Given the description of an element on the screen output the (x, y) to click on. 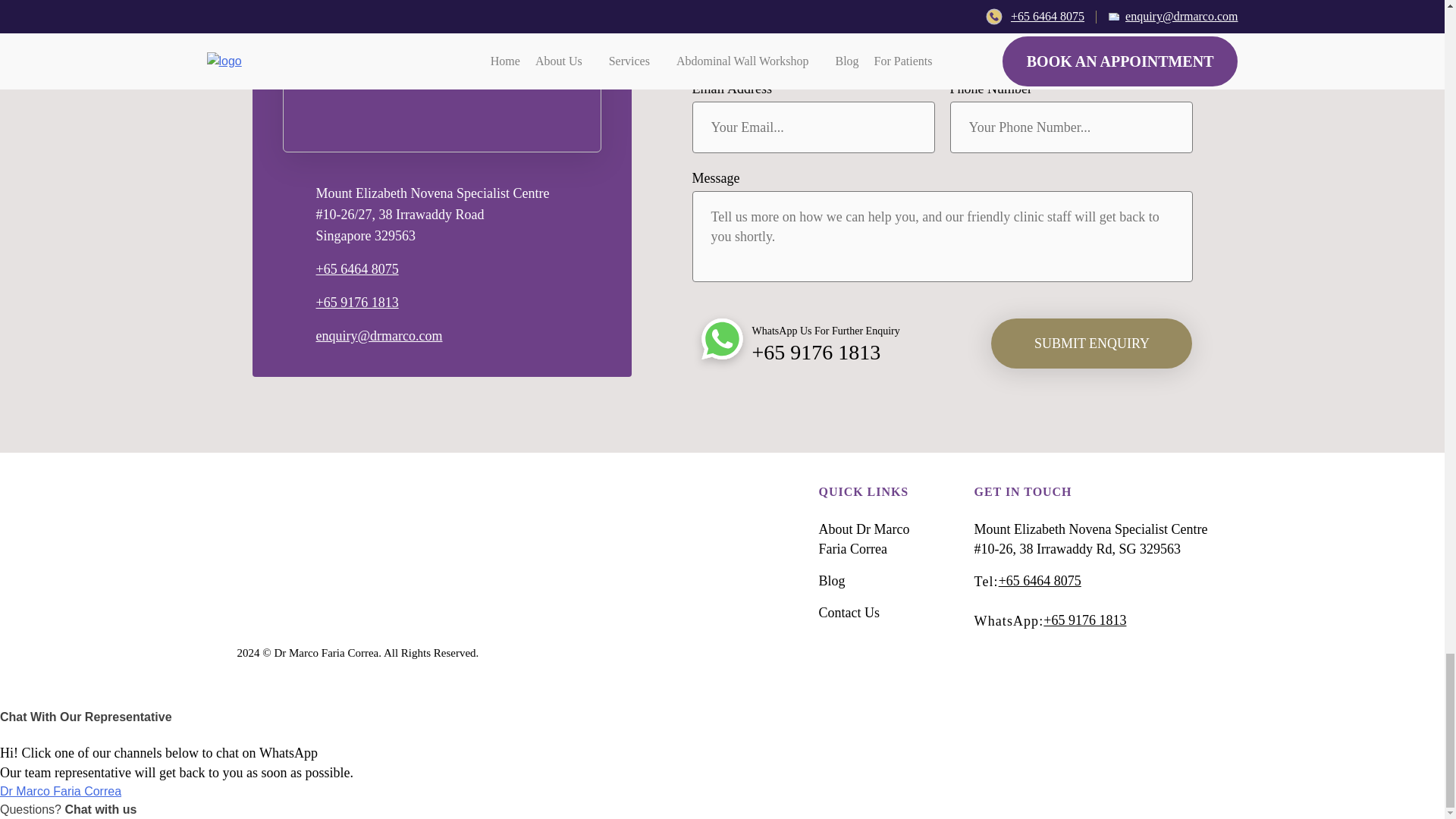
SUBMIT ENQUIRY (1091, 343)
